Given the description of an element on the screen output the (x, y) to click on. 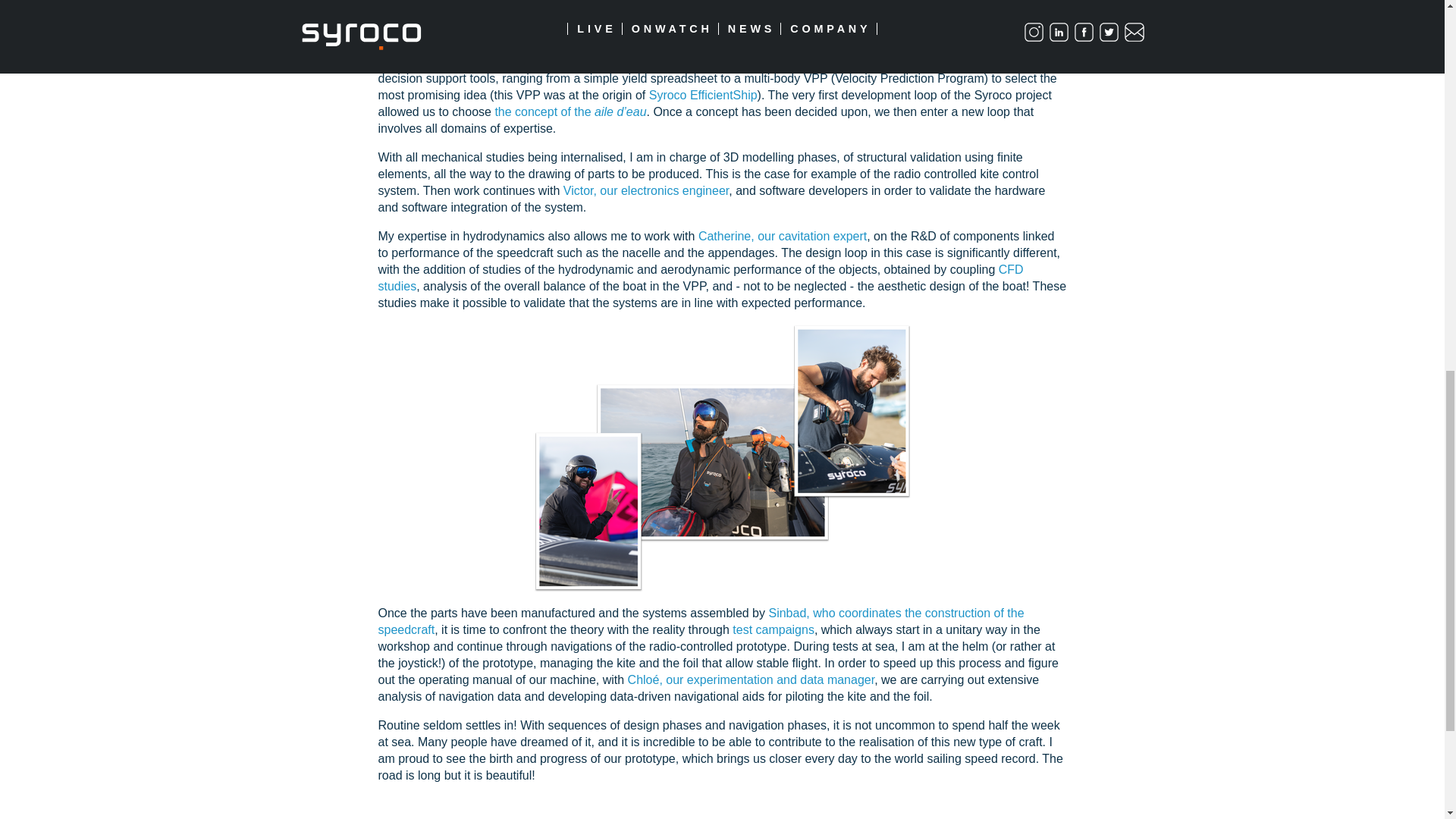
Sinbad, who coordinates the construction of the speedcraft (700, 621)
Victor, our electronics engineer (646, 190)
test campaigns (772, 629)
Syroco EfficientShip (703, 94)
CFD studies (700, 277)
Catherine, our cavitation expert (782, 236)
